Given the description of an element on the screen output the (x, y) to click on. 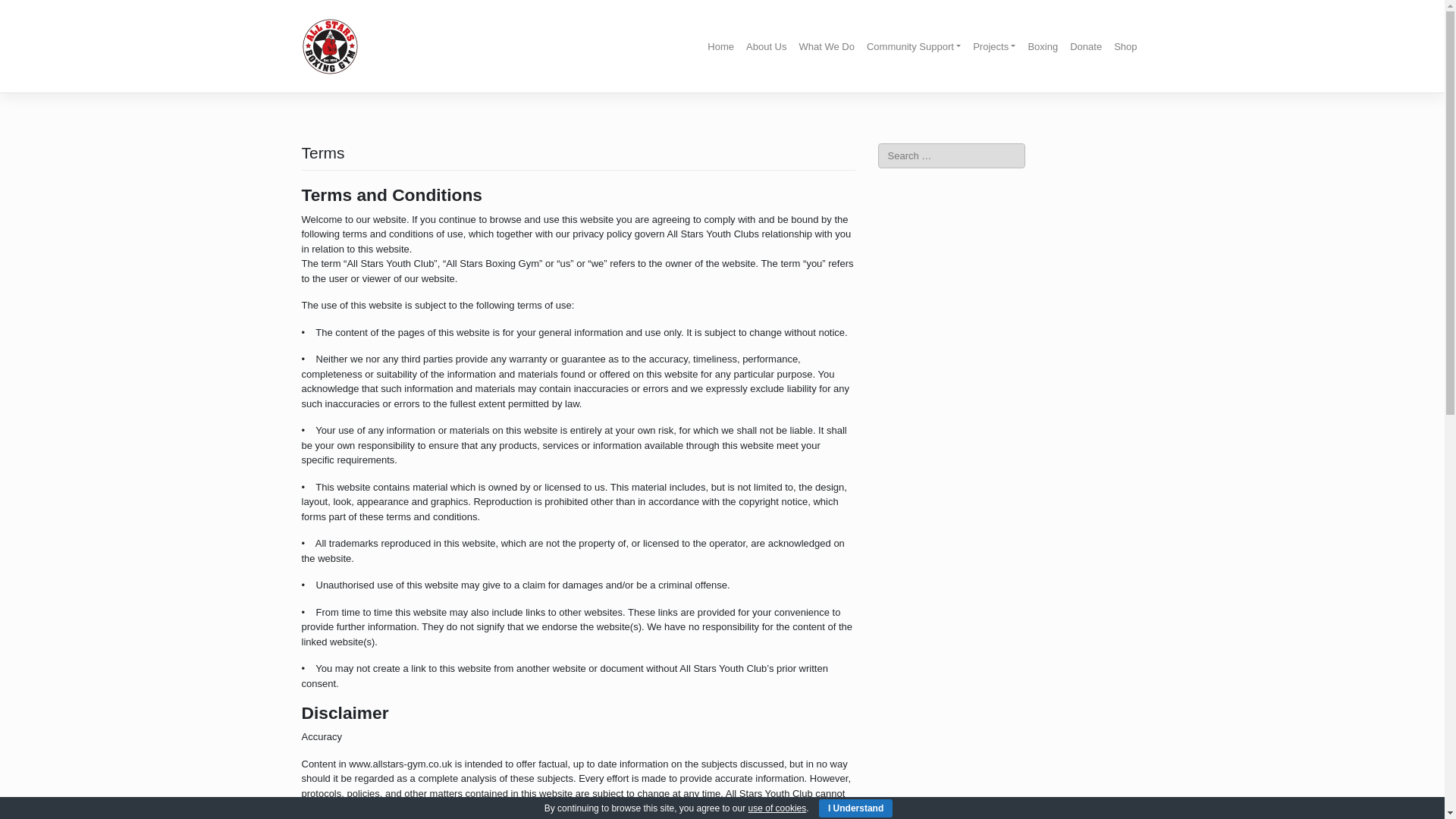
I Understand (855, 808)
Shop (1125, 45)
What We Do (826, 45)
About Us (765, 45)
Boxing (1043, 45)
Projects (994, 45)
What We Do (826, 45)
Home (720, 45)
Community Support (913, 45)
Search for: (951, 155)
Community Support (913, 45)
Boxing (1043, 45)
Donate (1086, 45)
Home (720, 45)
Donate (1086, 45)
